Given the description of an element on the screen output the (x, y) to click on. 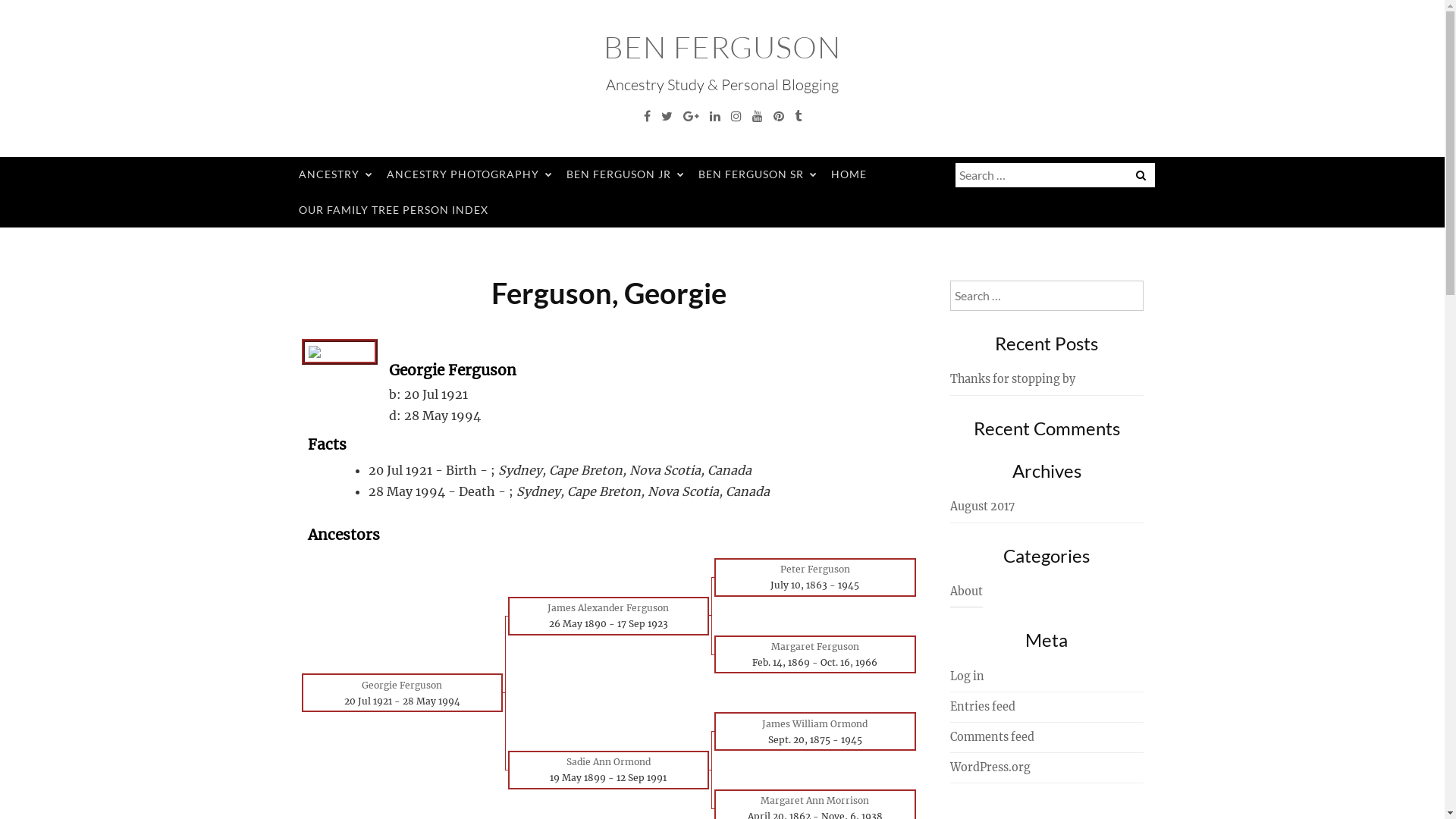
Entries feed Element type: text (981, 706)
August 2017 Element type: text (981, 506)
HOME Element type: text (848, 174)
YouTube Element type: text (756, 115)
Linkedin Element type: text (714, 115)
Pinterest Element type: text (777, 115)
Tumblr Element type: text (797, 115)
ANCESTRY PHOTOGRAPHY Element type: text (465, 174)
Skip to content Element type: text (0, 0)
BEN FERGUSON Element type: text (721, 46)
James William Ormond Element type: text (814, 723)
Peter Ferguson Element type: text (815, 568)
Search Element type: text (99, 12)
BEN FERGUSON JR Element type: text (622, 174)
Search Element type: text (26, 12)
Twitter Element type: text (665, 115)
Comments feed Element type: text (991, 736)
Log in Element type: text (966, 676)
Facebook Element type: text (647, 115)
Sadie Ann Ormond Element type: text (608, 761)
WordPress.org Element type: text (989, 767)
Thanks for stopping by Element type: text (1011, 378)
Margaret Ann Morrison Element type: text (814, 800)
James Alexander Ferguson Element type: text (607, 607)
OUR FAMILY TREE PERSON INDEX Element type: text (392, 210)
BEN FERGUSON SR Element type: text (754, 174)
Instagram Element type: text (735, 115)
About Element type: text (965, 592)
Margaret Ferguson Element type: text (815, 646)
Google Plus Element type: text (690, 115)
ANCESTRY Element type: text (331, 174)
Georgie Ferguson Element type: text (401, 684)
